Given the description of an element on the screen output the (x, y) to click on. 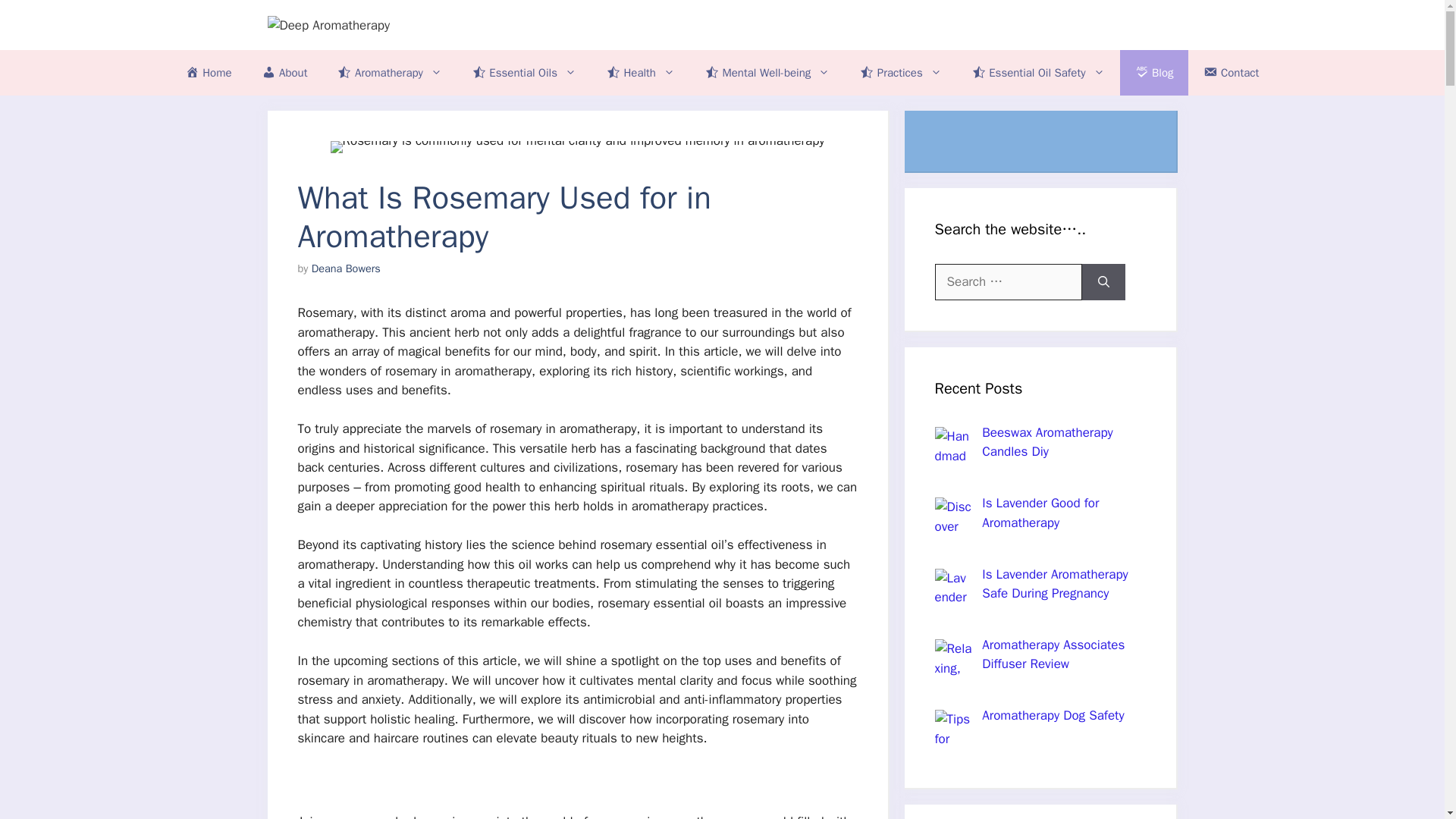
View all posts by Deana Bowers (345, 268)
What Is Rosemary Used for in Aromatherapy 1 (577, 146)
